Given the description of an element on the screen output the (x, y) to click on. 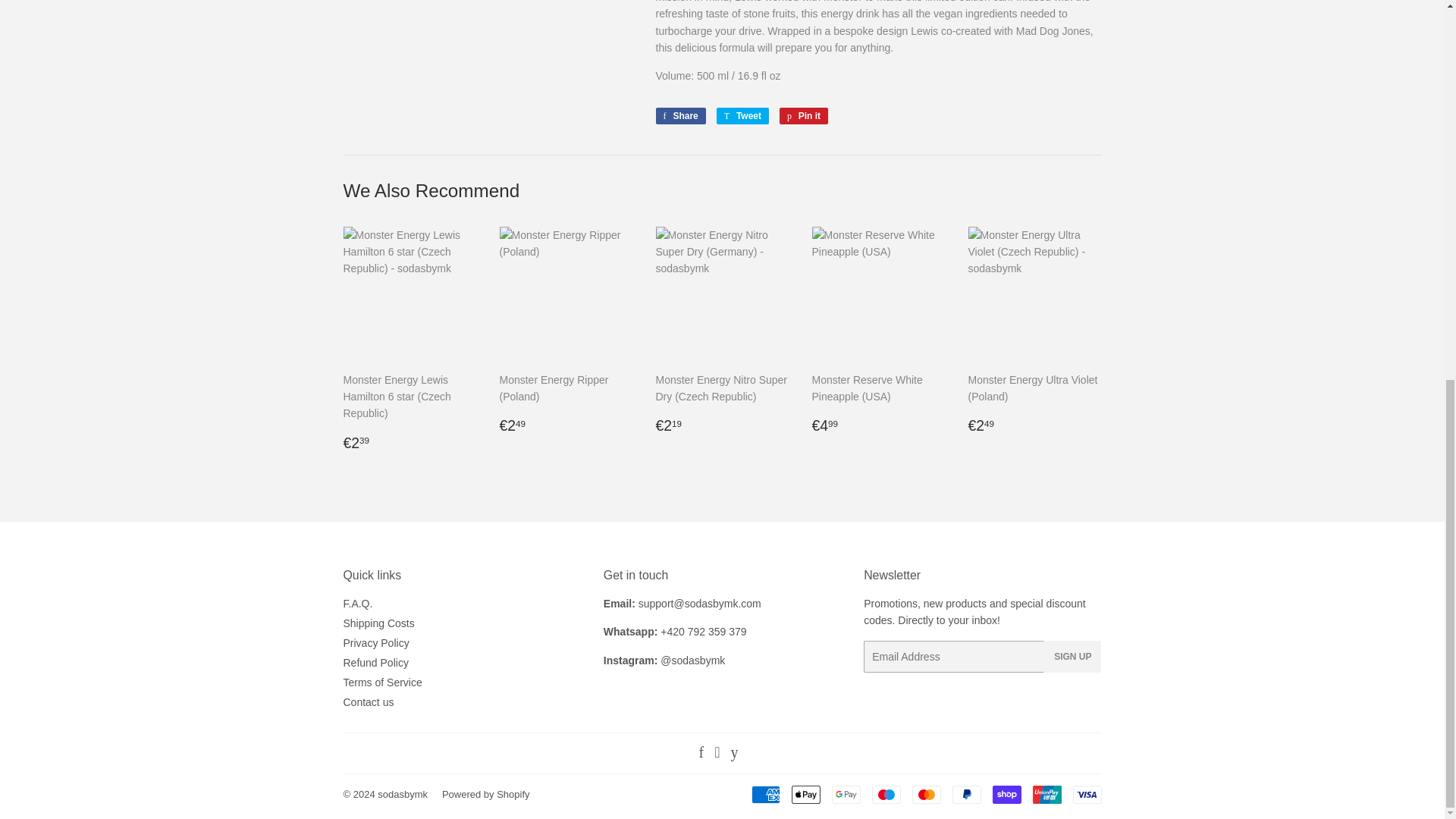
Google Pay (845, 794)
Share on Facebook (679, 115)
Maestro (886, 794)
Mastercard (925, 794)
American Express (764, 794)
Apple Pay (806, 794)
PayPal (966, 794)
Visa (1085, 794)
Pin on Pinterest (803, 115)
Shop Pay (1005, 794)
Tweet on Twitter (742, 115)
Union Pay (1046, 794)
